Given the description of an element on the screen output the (x, y) to click on. 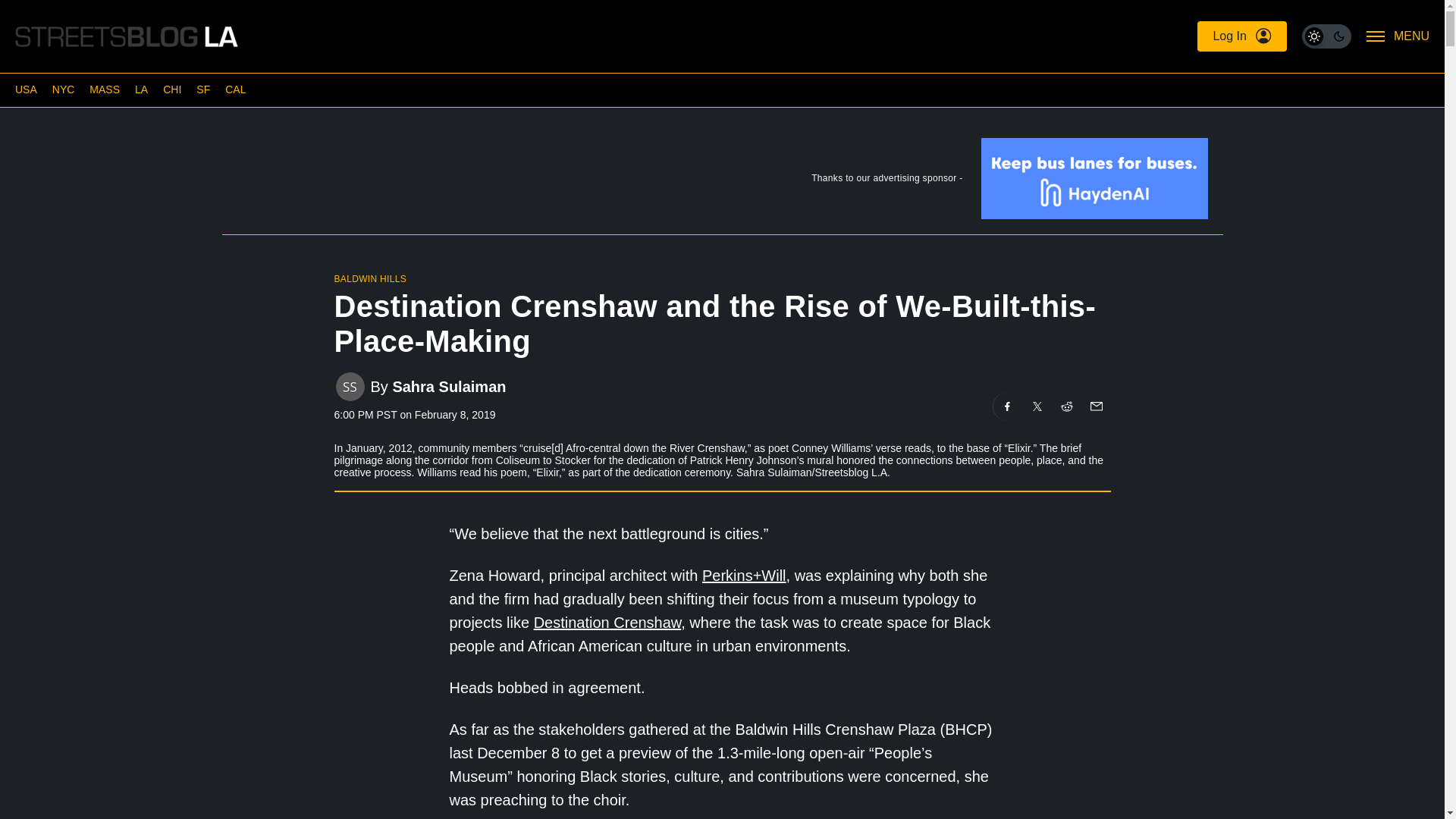
MENU (1398, 36)
MASS (103, 89)
Share on Facebook (1007, 406)
BALDWIN HILLS (369, 278)
NYC (63, 89)
CAL (235, 89)
Log In (1240, 36)
USA (25, 89)
Sahra Sulaiman (448, 386)
CHI (171, 89)
Thanks to our advertising sponsor - (721, 181)
